Given the description of an element on the screen output the (x, y) to click on. 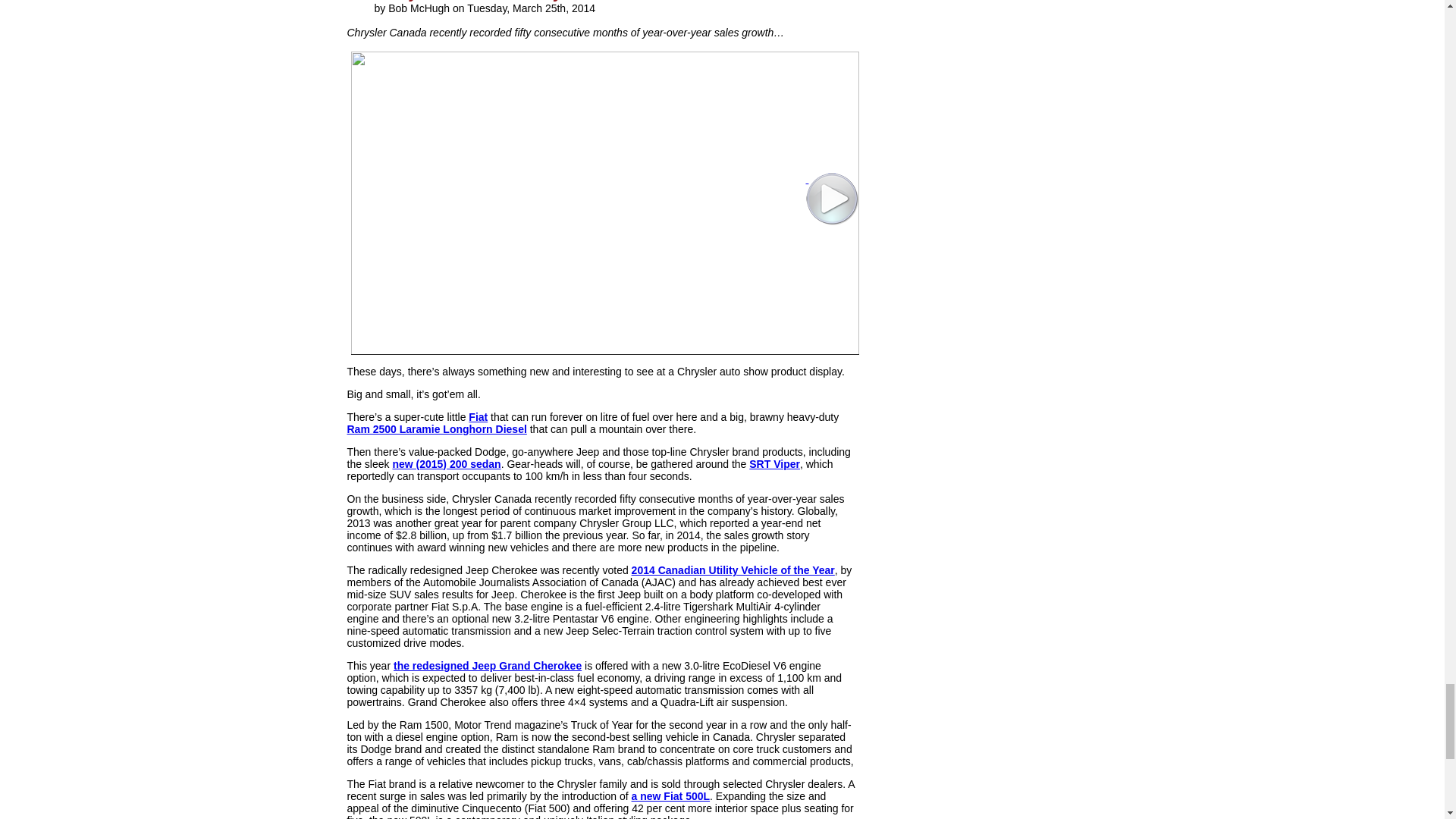
Fiat 500 (477, 417)
Dodge Ram Laramie Longhorn (437, 428)
Jeep Cherokee wins 2014 Car of the Year (732, 570)
2015 Jeep Grand Cherokee (486, 665)
Chrysler 200 Sedan for 2015 (445, 463)
All-new SRT Viper (774, 463)
